Given the description of an element on the screen output the (x, y) to click on. 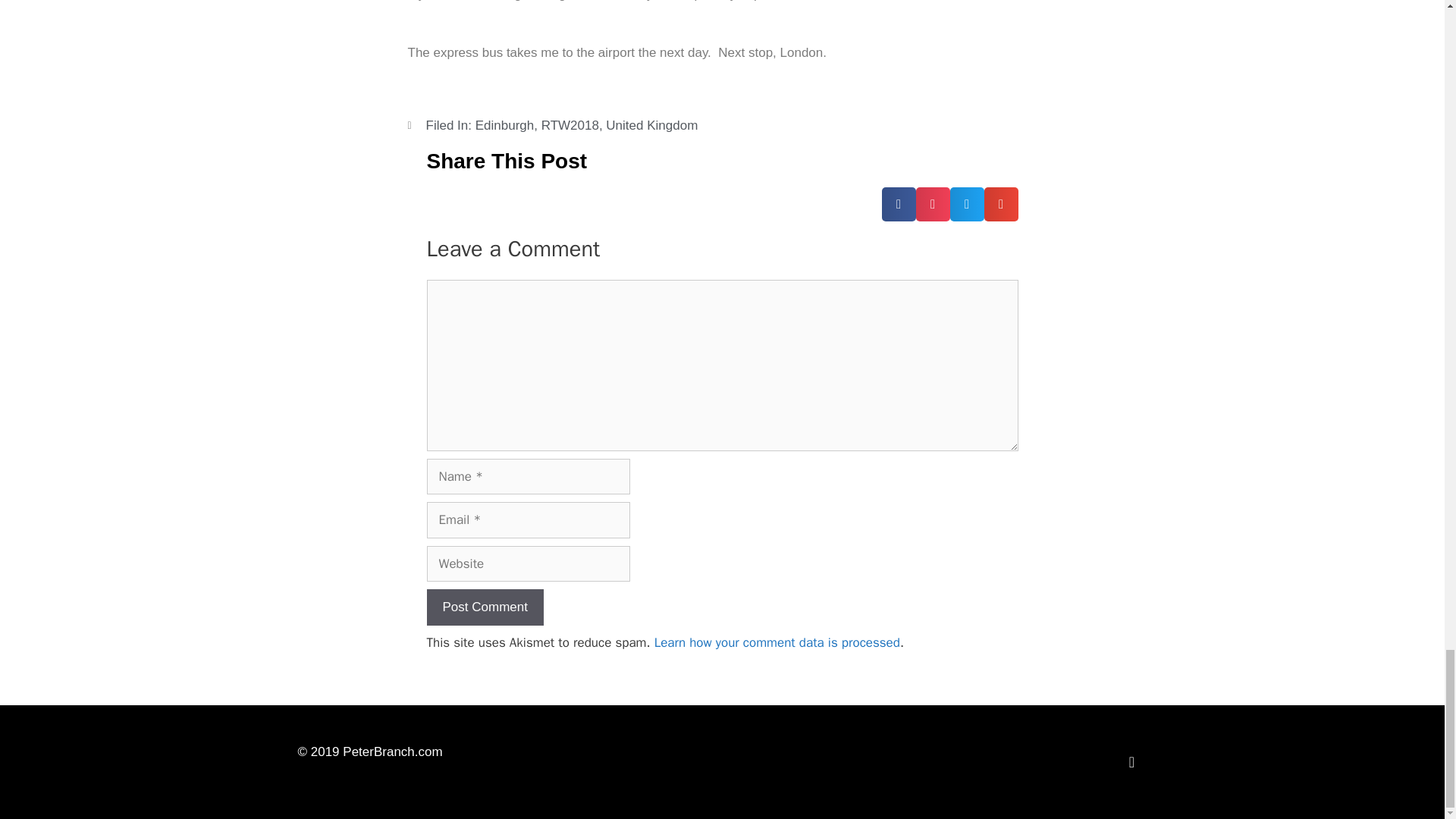
Post Comment (484, 606)
Post Comment (484, 606)
RTW2018 (569, 124)
Edinburgh (505, 124)
United Kingdom (651, 124)
Learn how your comment data is processed (776, 642)
